Given the description of an element on the screen output the (x, y) to click on. 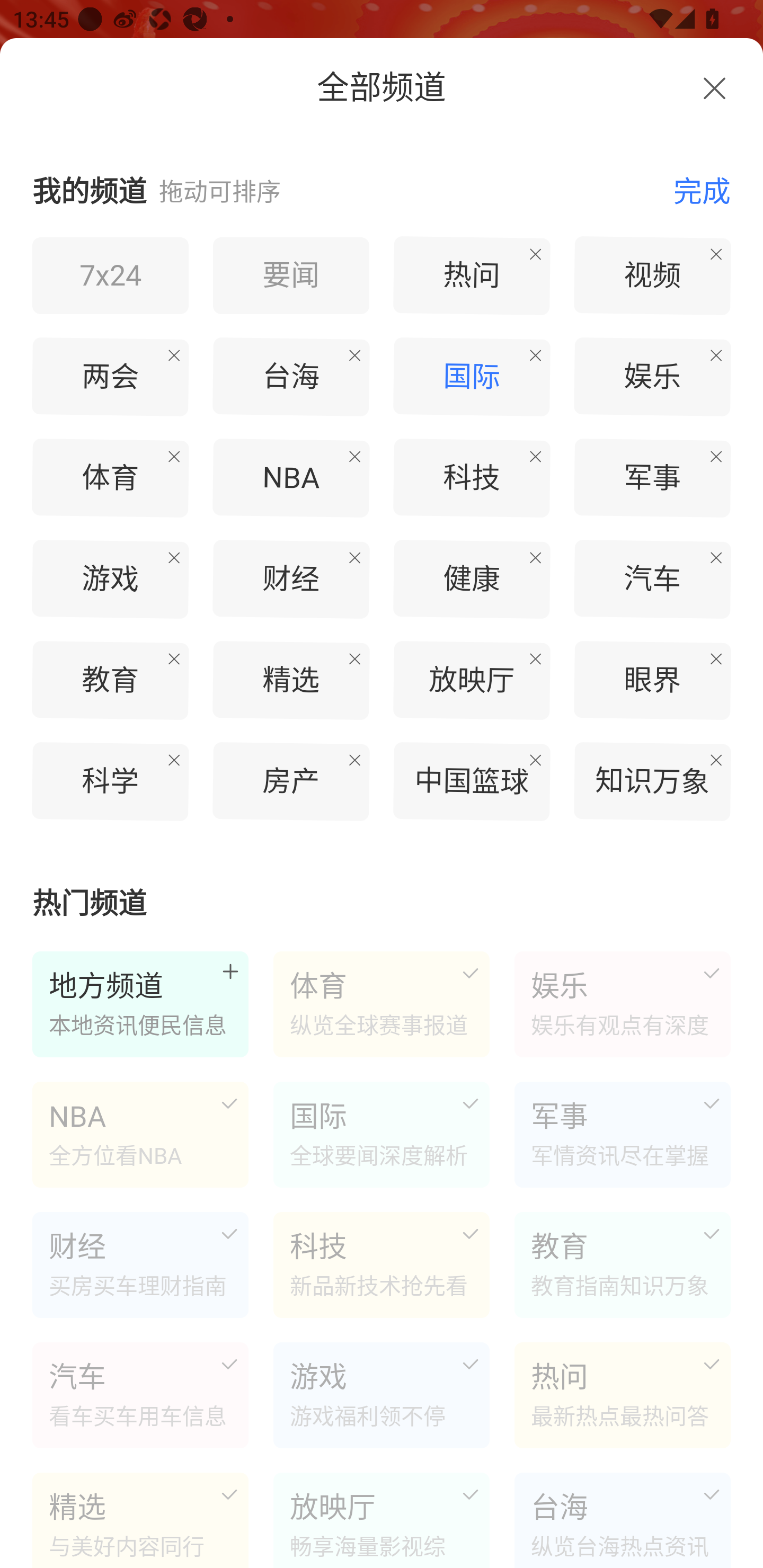
 (714, 87)
完成 (691, 190)
